Given the description of an element on the screen output the (x, y) to click on. 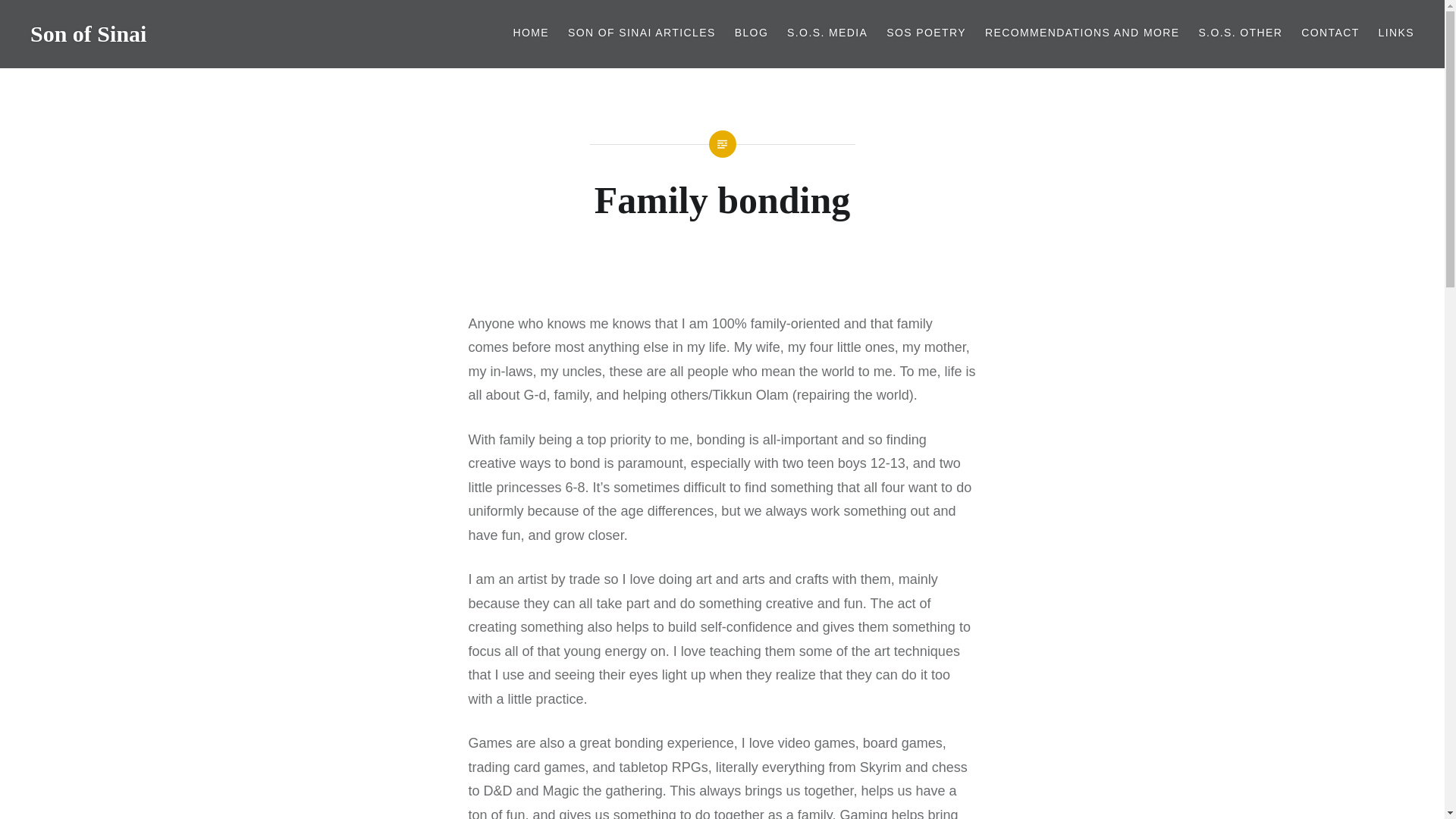
CONTACT (1329, 32)
SON OF SINAI ARTICLES (641, 32)
BLOG (751, 32)
RECOMMENDATIONS AND MORE (1082, 32)
HOME (530, 32)
SOS POETRY (926, 32)
S.O.S. OTHER (1240, 32)
LINKS (1395, 32)
Son of Sinai (88, 33)
S.O.S. MEDIA (827, 32)
